Given the description of an element on the screen output the (x, y) to click on. 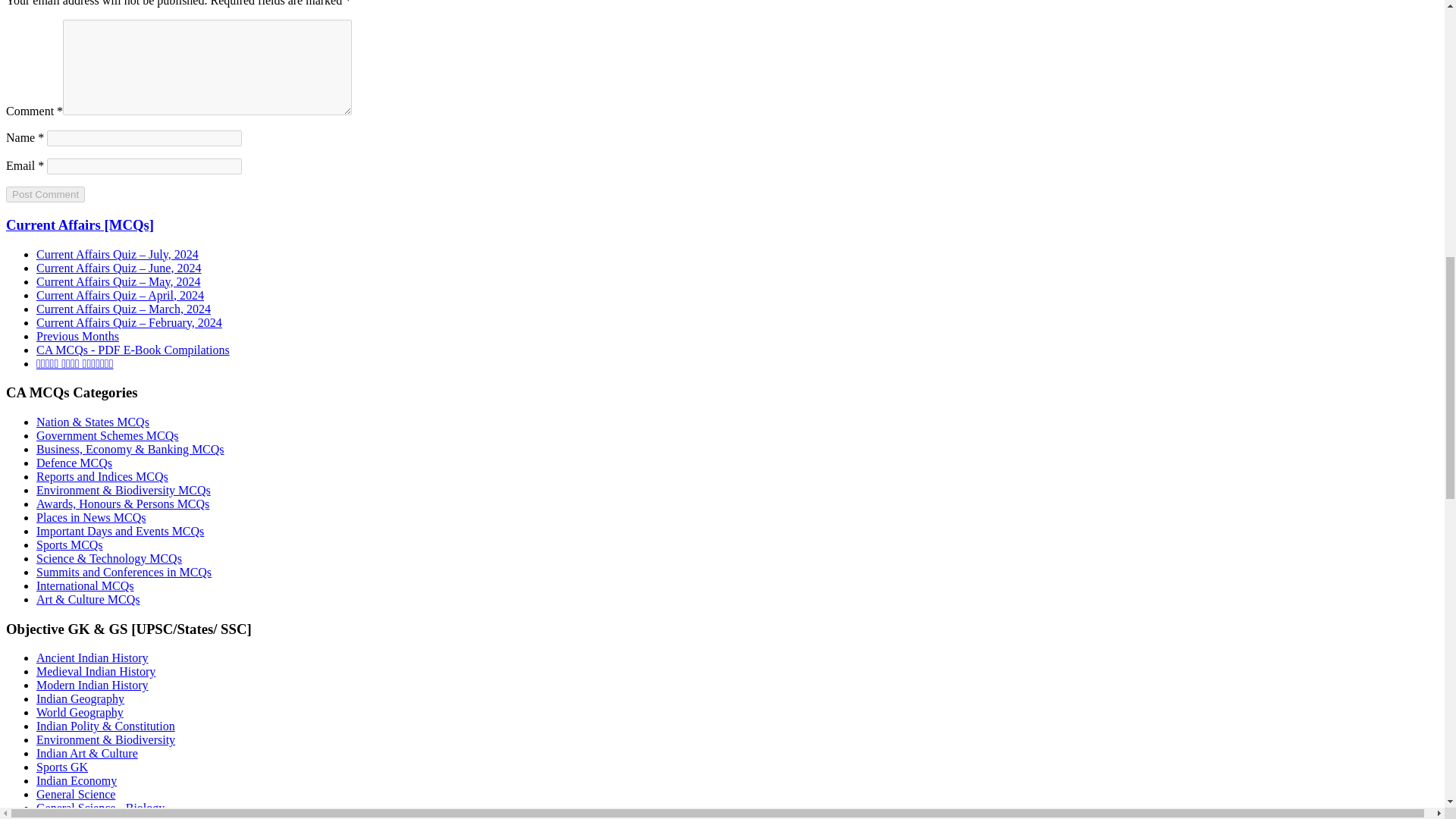
Government Schemes MCQs (107, 435)
Previous Months (77, 336)
CA MCQs - PDF E-Book Compilations (133, 349)
Defence MCQs (74, 462)
Reports and Indices MCQs (102, 476)
Post Comment (44, 194)
Post Comment (44, 194)
